Given the description of an element on the screen output the (x, y) to click on. 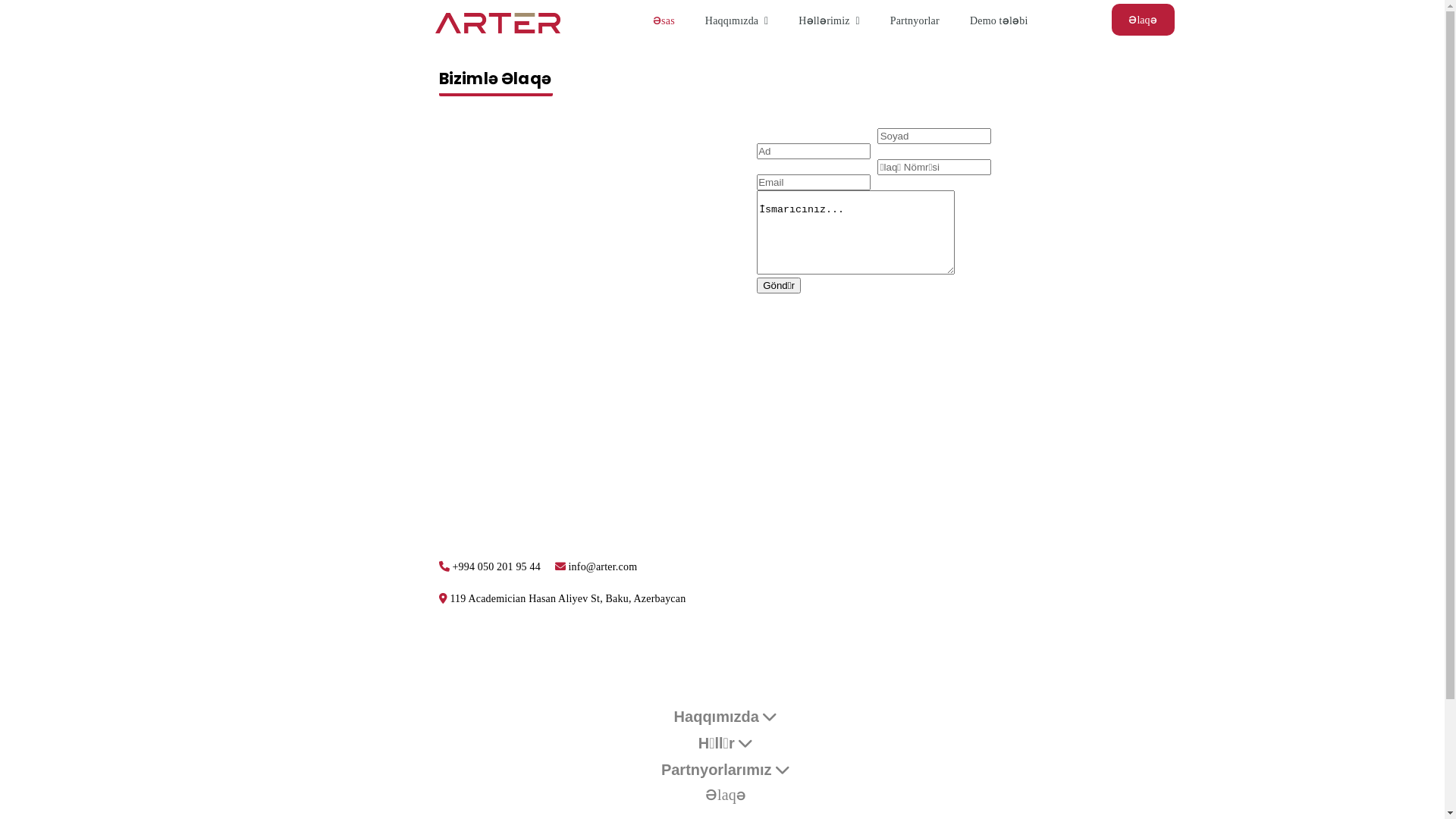
info@arter.com Element type: text (596, 566)
+994 050 201 95 44 Element type: text (488, 566)
119 Academician Hasan Aliyev St, Baku, Azerbaycan Element type: text (561, 598)
Partnyorlar Element type: text (914, 20)
